Given the description of an element on the screen output the (x, y) to click on. 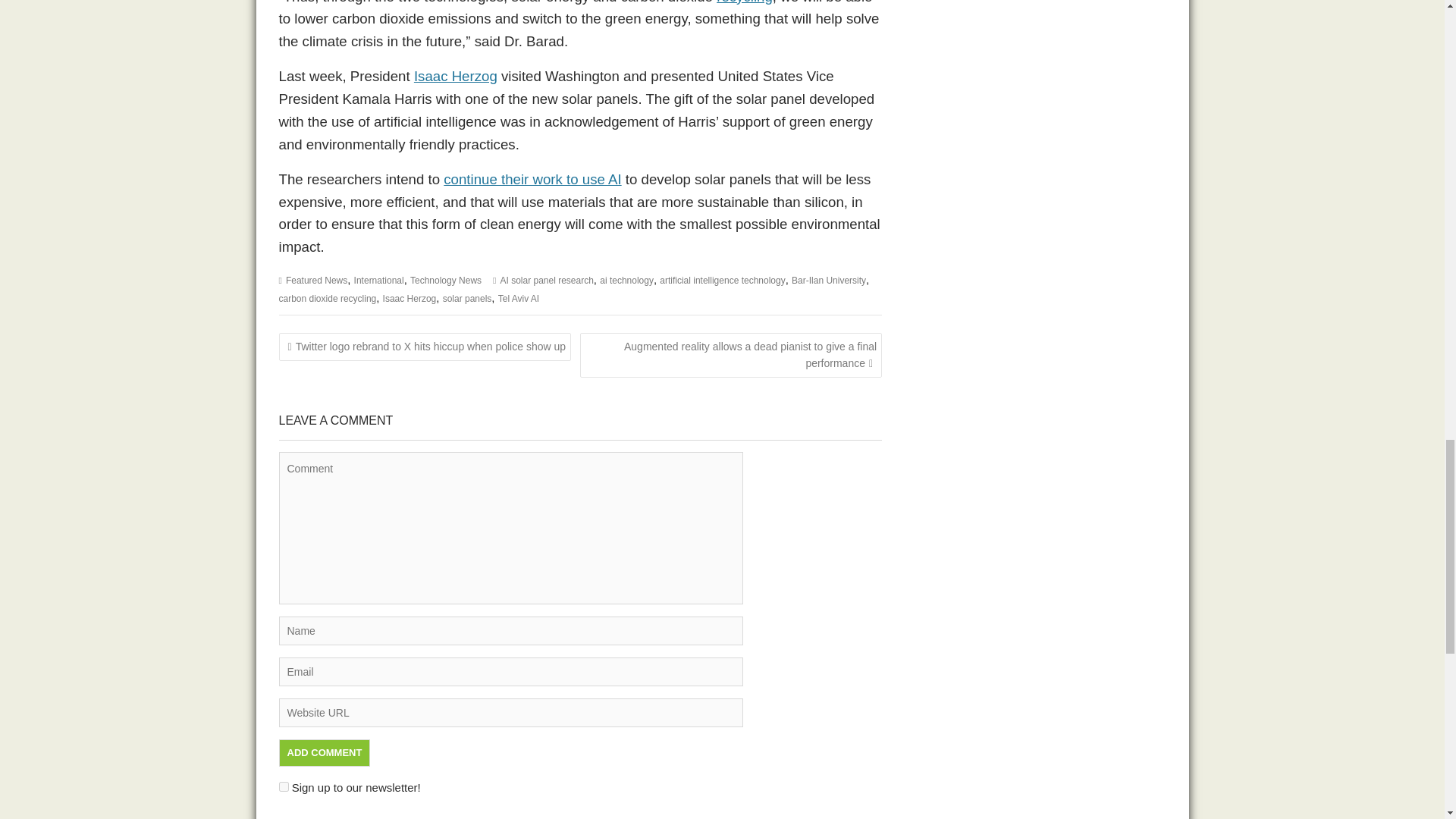
Isaac Herzog Wikipedia (455, 75)
Israeli Researchers Use AI To Make Next Gen Of Solar Panels (532, 179)
Add Comment (325, 752)
1 (283, 786)
